Given the description of an element on the screen output the (x, y) to click on. 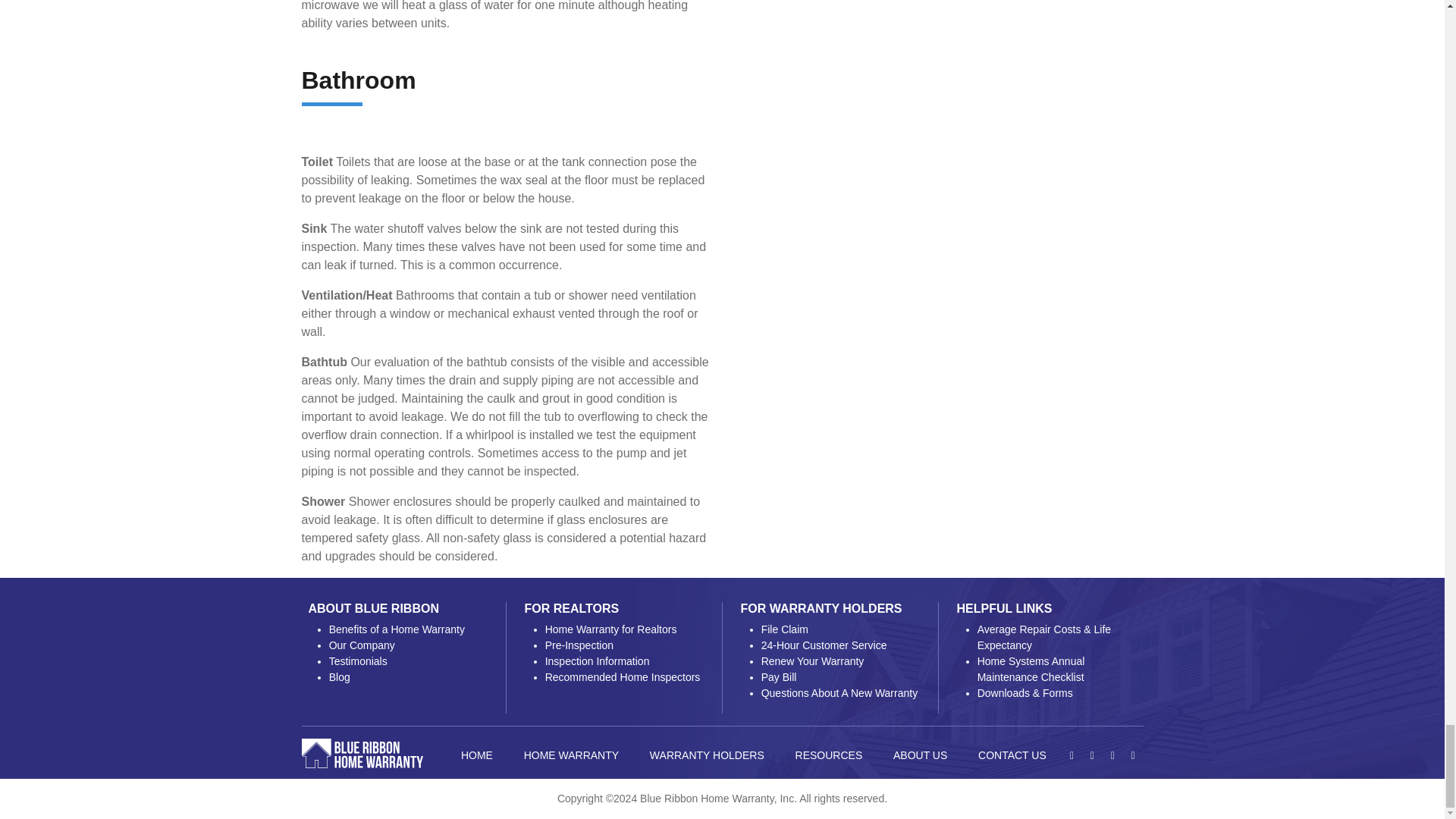
Warranty Holders (705, 755)
Our Company (361, 645)
About Us (919, 755)
Benefits of a Home Warranty (396, 629)
Testimonials (358, 661)
Home Warranty (570, 755)
Contact Us (1011, 755)
Resources (827, 755)
Home (476, 755)
